Given the description of an element on the screen output the (x, y) to click on. 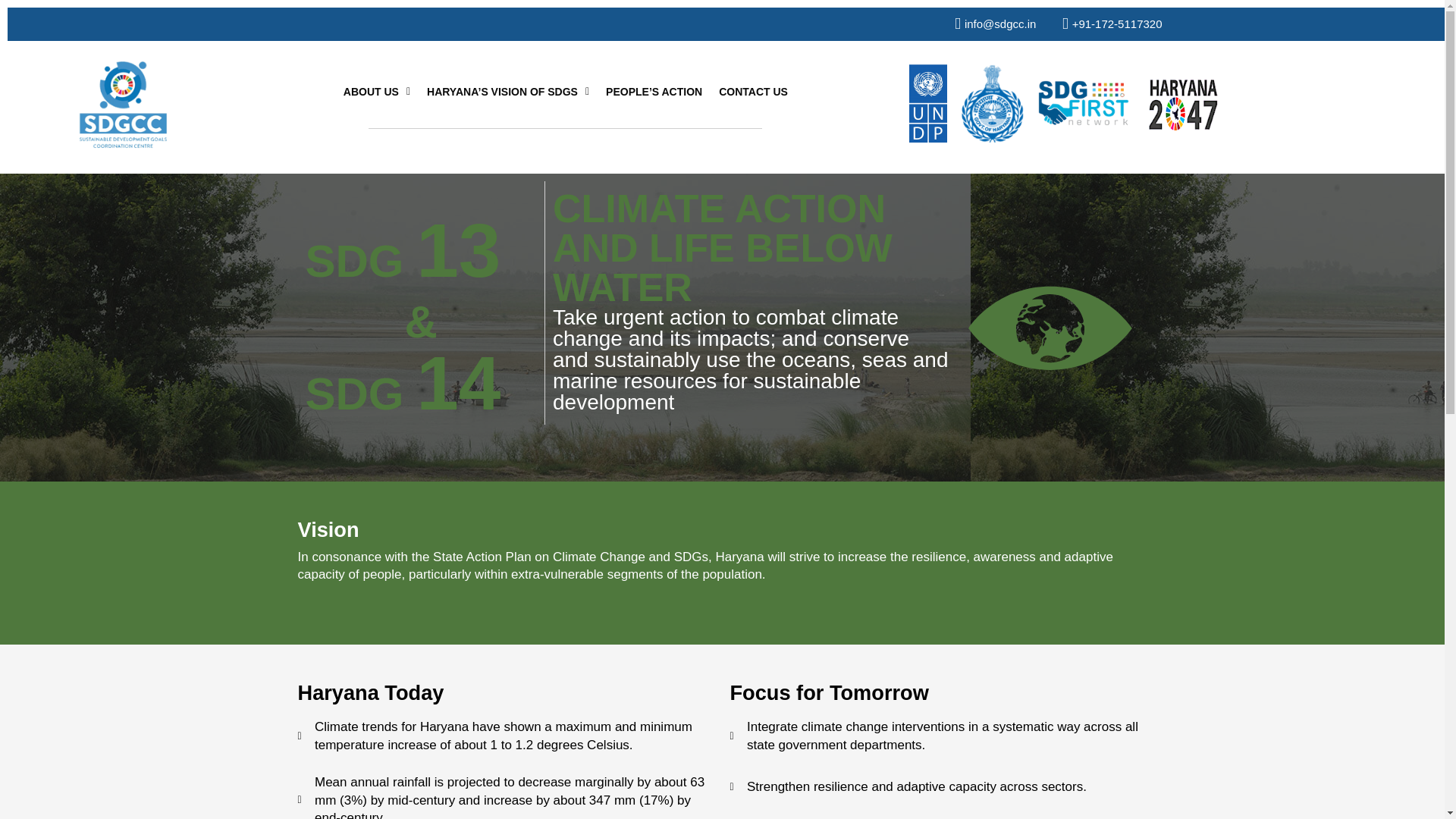
ABOUT US (376, 91)
CONTACT US (753, 91)
